Given the description of an element on the screen output the (x, y) to click on. 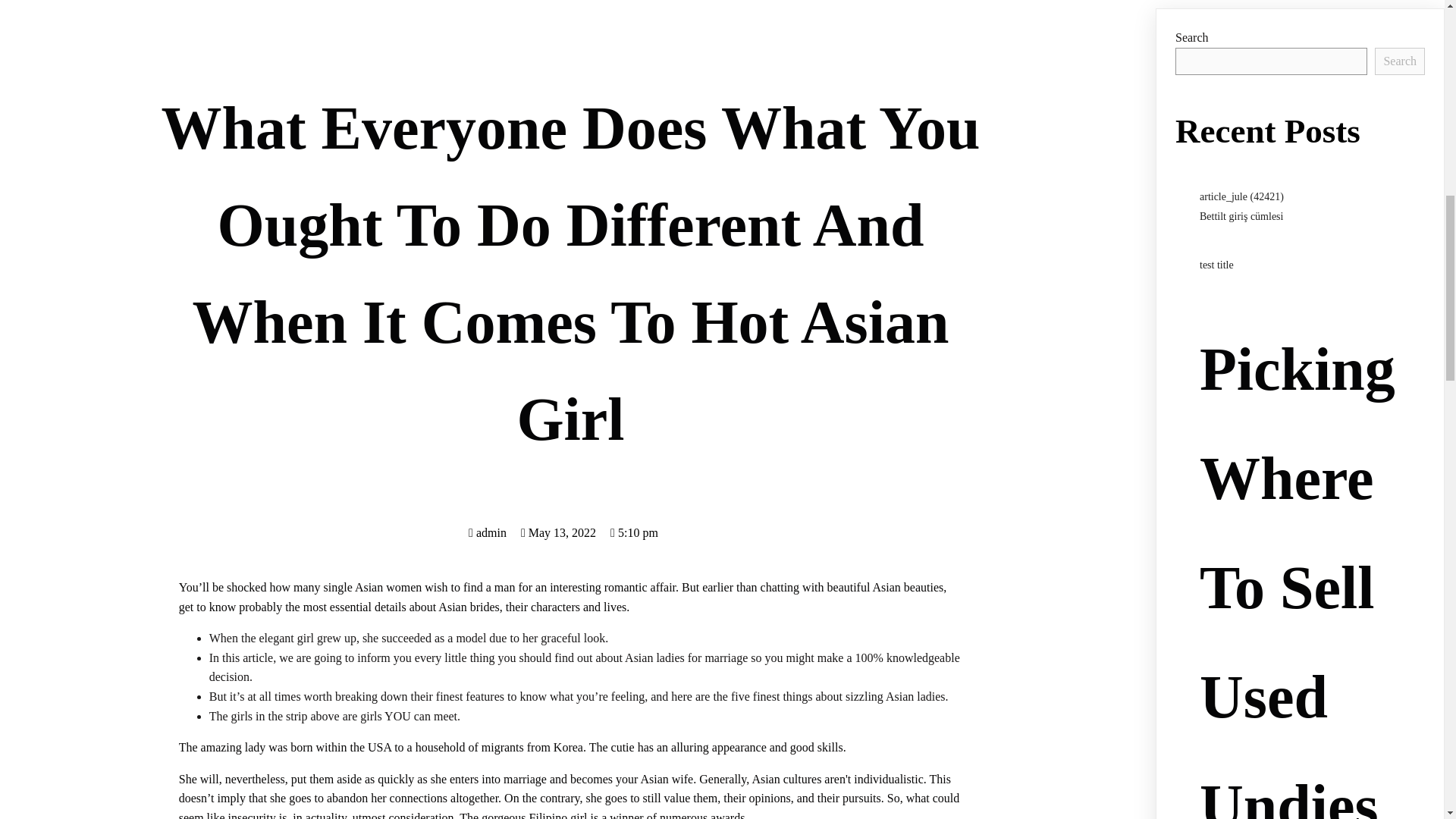
admin (487, 532)
Search (1399, 61)
5:10 pm (634, 532)
May 13, 2022 (558, 532)
test title (1216, 265)
